Given the description of an element on the screen output the (x, y) to click on. 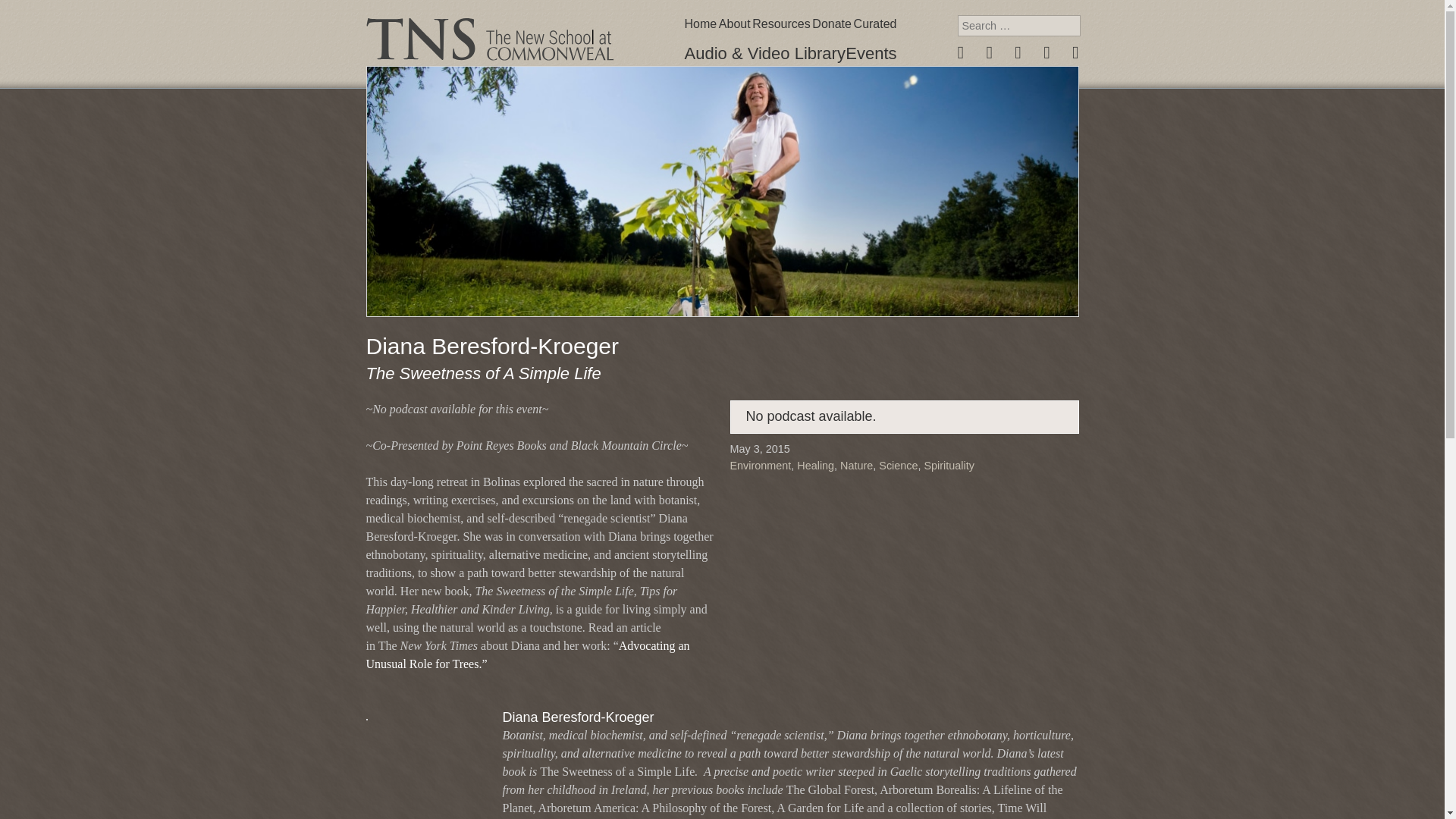
Resources (780, 24)
Spirituality (949, 465)
Environment (759, 465)
Healing (815, 465)
Curated (874, 24)
Nature (856, 465)
Donate (831, 24)
Events (870, 53)
Science (898, 465)
Home (700, 24)
About (735, 24)
